Given the description of an element on the screen output the (x, y) to click on. 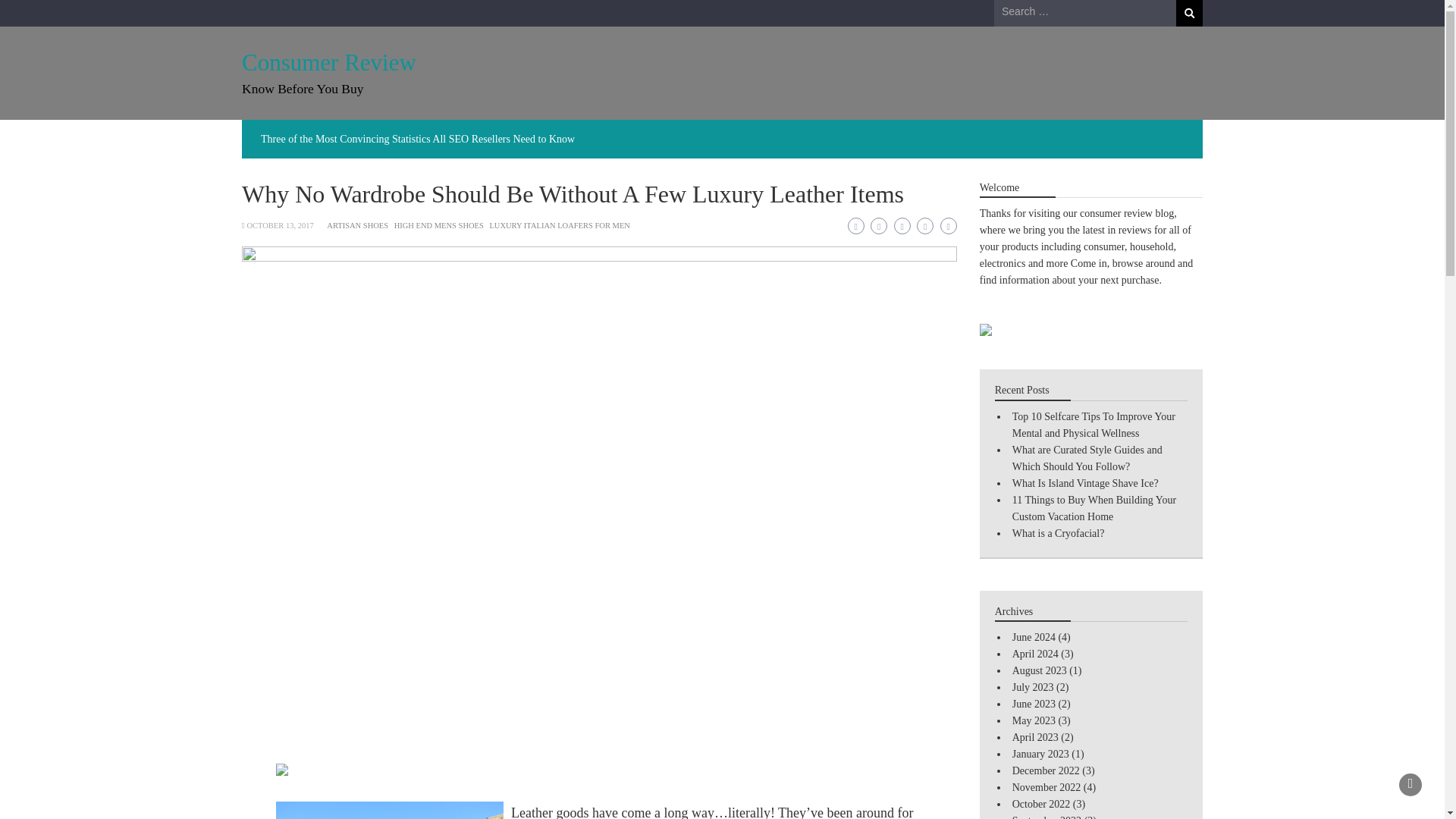
What are Curated Style Guides and Which Should You Follow? (1086, 458)
Search (1189, 13)
Search (1189, 13)
HIGH END MENS SHOES (438, 225)
May 2023 (1033, 720)
What Is Island Vintage Shave Ice? (1084, 482)
June 2023 (1033, 704)
11 Things to Buy When Building Your Custom Vacation Home (1093, 508)
ARTISAN SHOES (357, 225)
What is a Cryofacial? (1058, 532)
April 2023 (1034, 737)
July 2023 (1032, 686)
Search (1189, 13)
January 2023 (1039, 754)
